Given the description of an element on the screen output the (x, y) to click on. 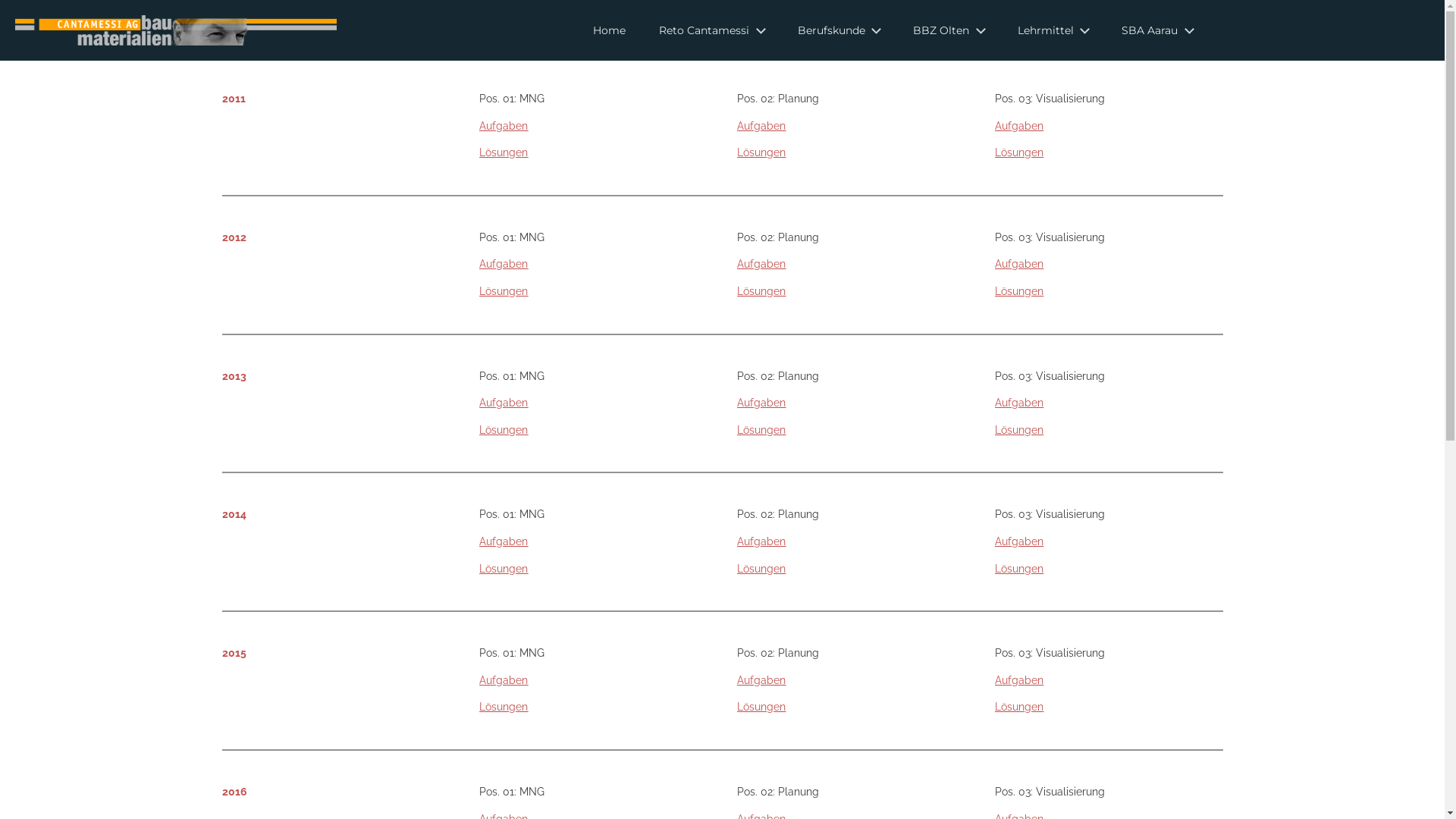
Aufgaben Element type: text (761, 402)
Home Element type: text (608, 29)
Aufgaben Element type: text (1018, 541)
Aufgaben Element type: text (761, 541)
Aufgaben Element type: text (503, 125)
Aufgaben Element type: text (761, 125)
Aufgaben Element type: text (1018, 402)
Aufgaben Element type: text (503, 263)
Aufgaben Element type: text (503, 541)
Aufgaben Element type: text (1018, 125)
Aufgaben Element type: text (1018, 263)
Aufgaben Element type: text (503, 402)
Aufgaben Element type: text (503, 680)
Aufgaben Element type: text (761, 680)
Aufgaben Element type: text (761, 263)
Aufgaben Element type: text (1018, 680)
